Given the description of an element on the screen output the (x, y) to click on. 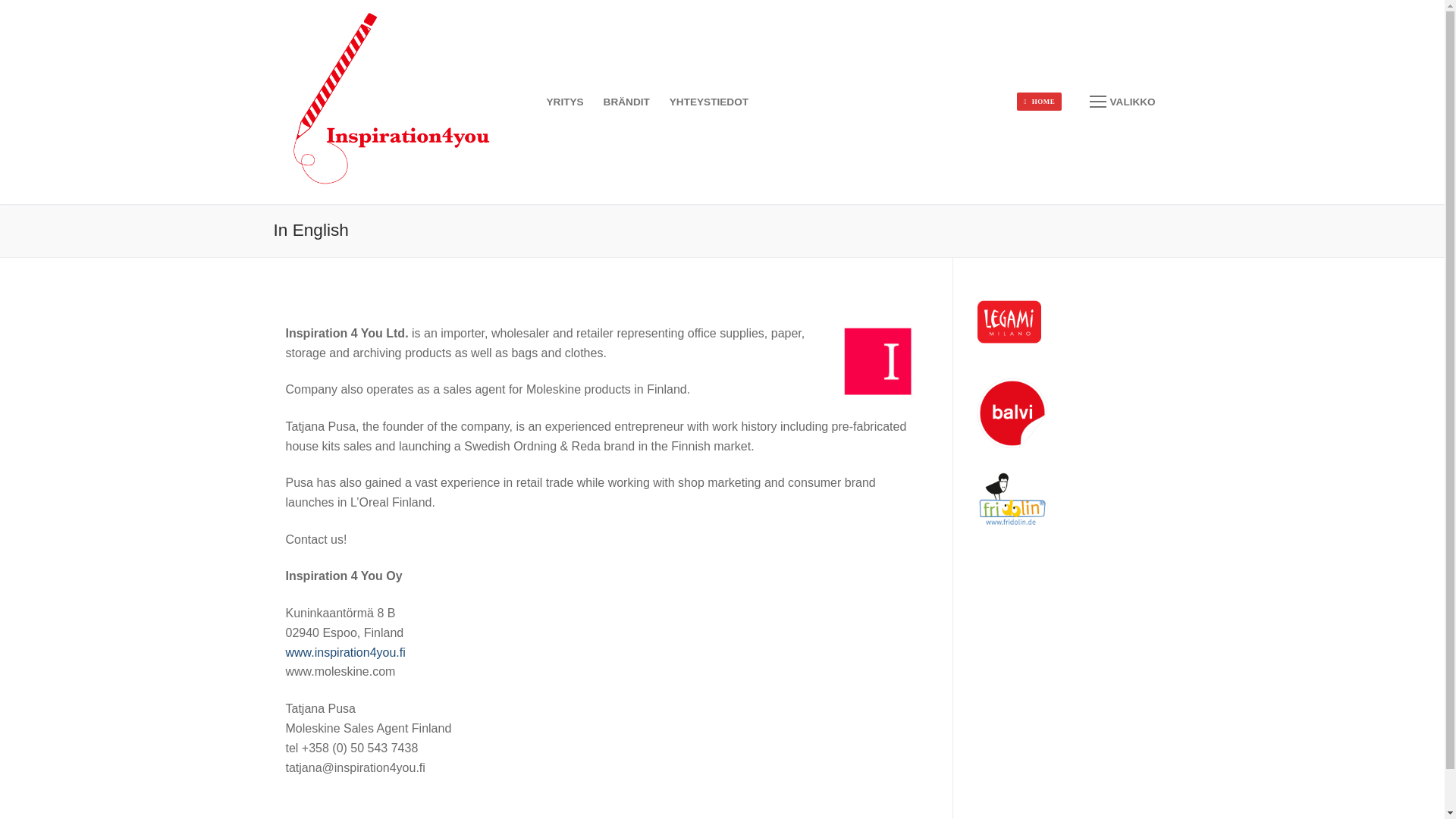
VALIKKO (1122, 101)
YRITYS (565, 102)
YHTEYSTIEDOT (708, 102)
HOME (1038, 101)
www.inspiration4you.fi (344, 652)
